Given the description of an element on the screen output the (x, y) to click on. 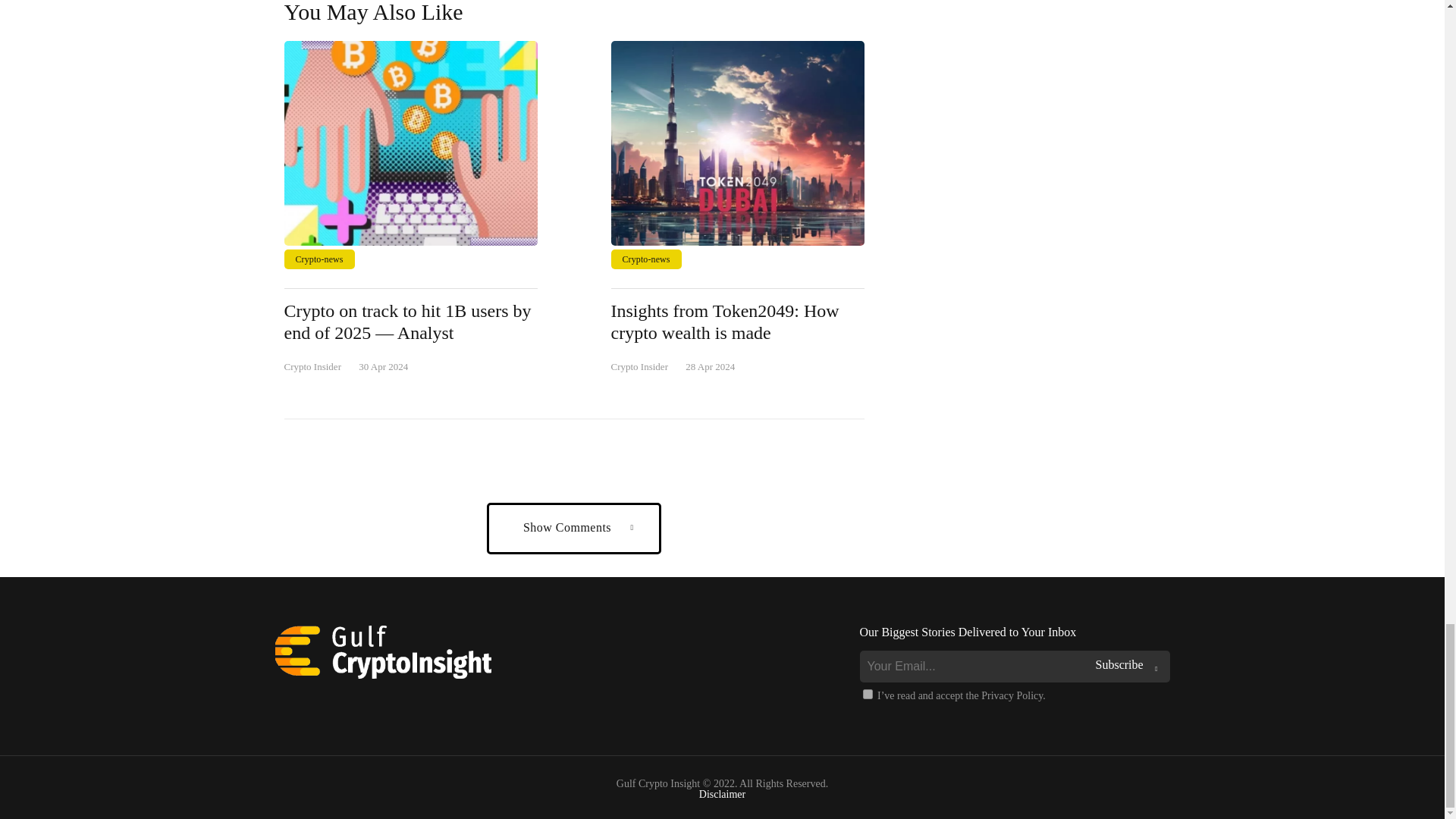
on (867, 694)
Posts by Crypto Insider (311, 366)
Posts by Crypto Insider (639, 366)
